Given the description of an element on the screen output the (x, y) to click on. 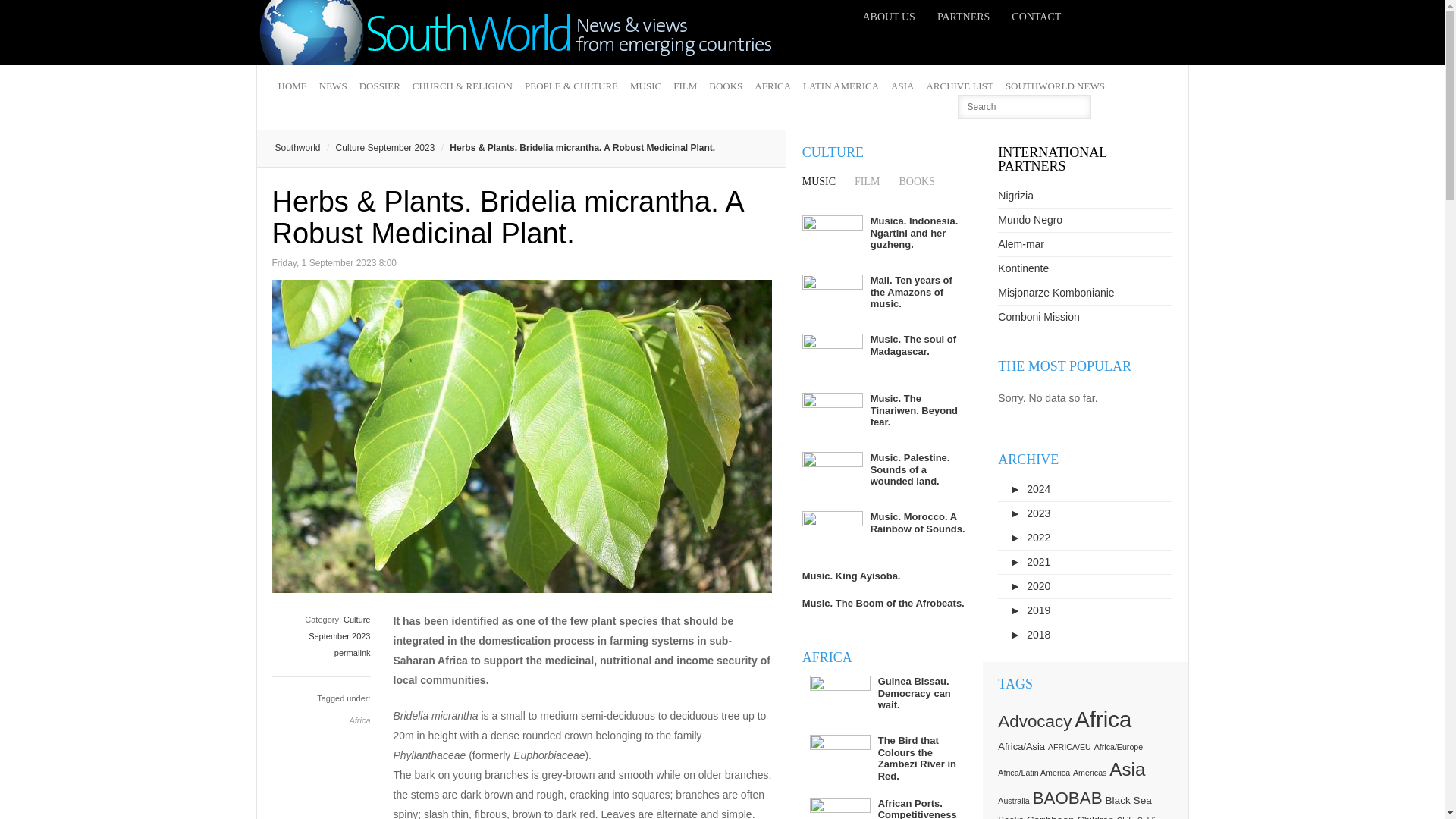
Music. Morocco. A Rainbow of Sounds. (917, 522)
PARTNERS (963, 17)
Music. The Tinariwen. Beyond fear. (914, 410)
Music. Palestine. Sounds of a wounded land. (910, 469)
Music. The Boom of the Afrobeats. (882, 603)
The Bird that Colours the Zambezi River in Red. (916, 758)
Music. The Tinariwen. Beyond fear. (914, 410)
Mali. Ten years of the Amazons of music. (911, 291)
AFRICA (772, 86)
LATIN AMERICA (840, 86)
